Given the description of an element on the screen output the (x, y) to click on. 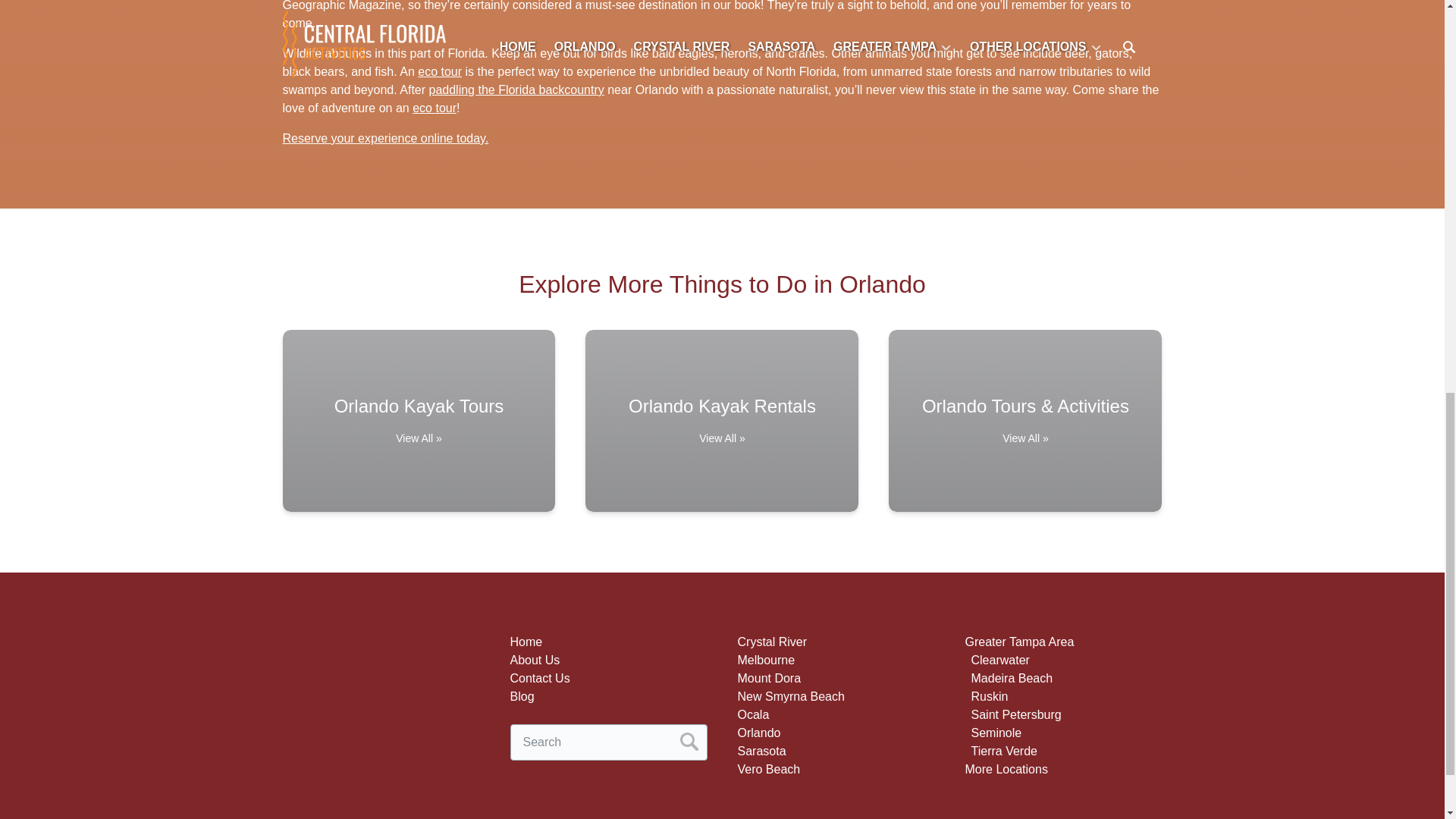
eco tour (439, 71)
eco tour (434, 107)
FareHarbor (1342, 64)
paddling the Florida backcountry (516, 89)
Reserve your experience online today. (384, 137)
Search (688, 741)
